Given the description of an element on the screen output the (x, y) to click on. 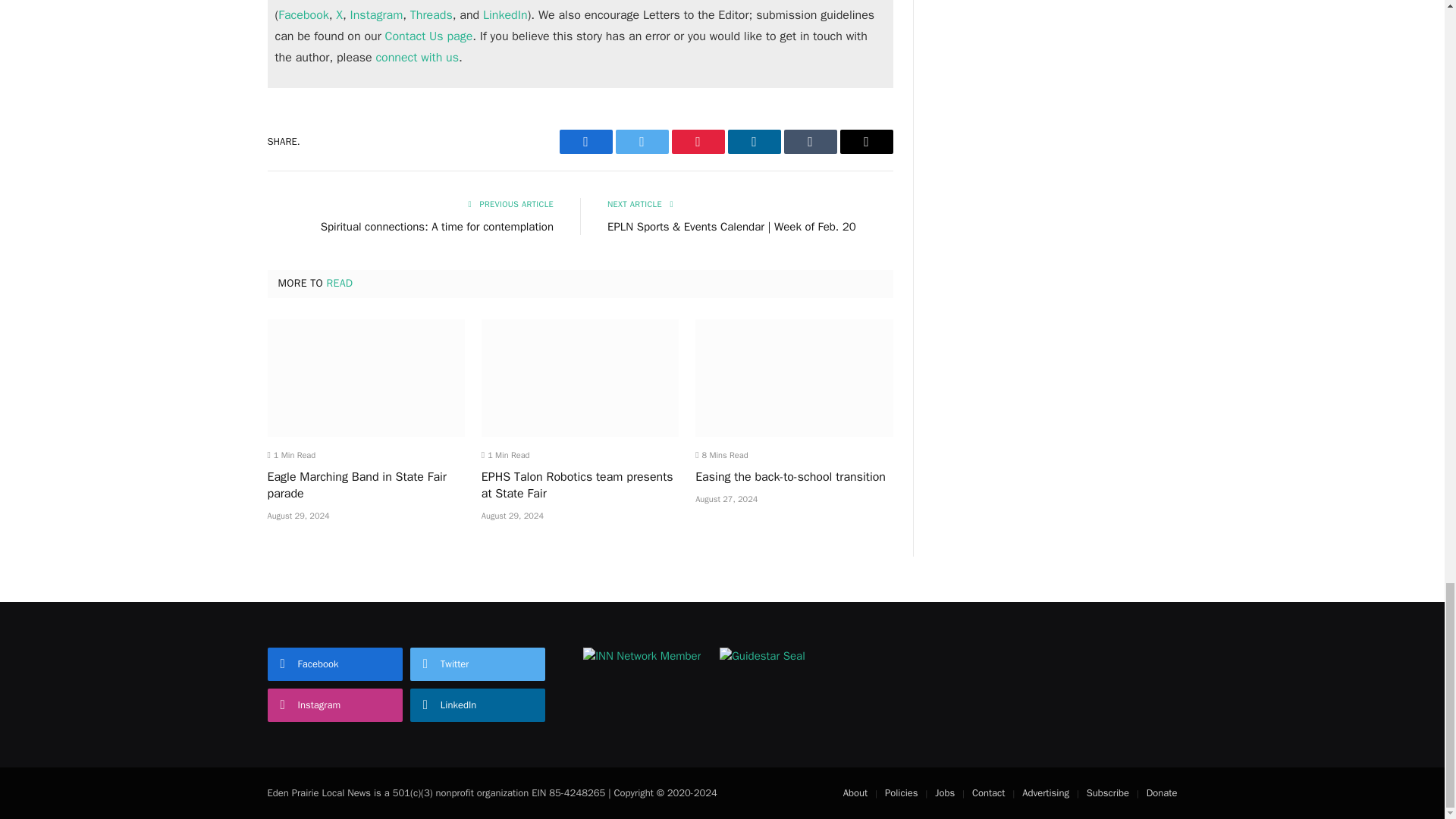
Share on Facebook (585, 141)
Share via Email (866, 141)
Eagle Marching Band in State Fair parade (365, 377)
Share on LinkedIn (754, 141)
Share on Pinterest (698, 141)
Share on Tumblr (810, 141)
